Given the description of an element on the screen output the (x, y) to click on. 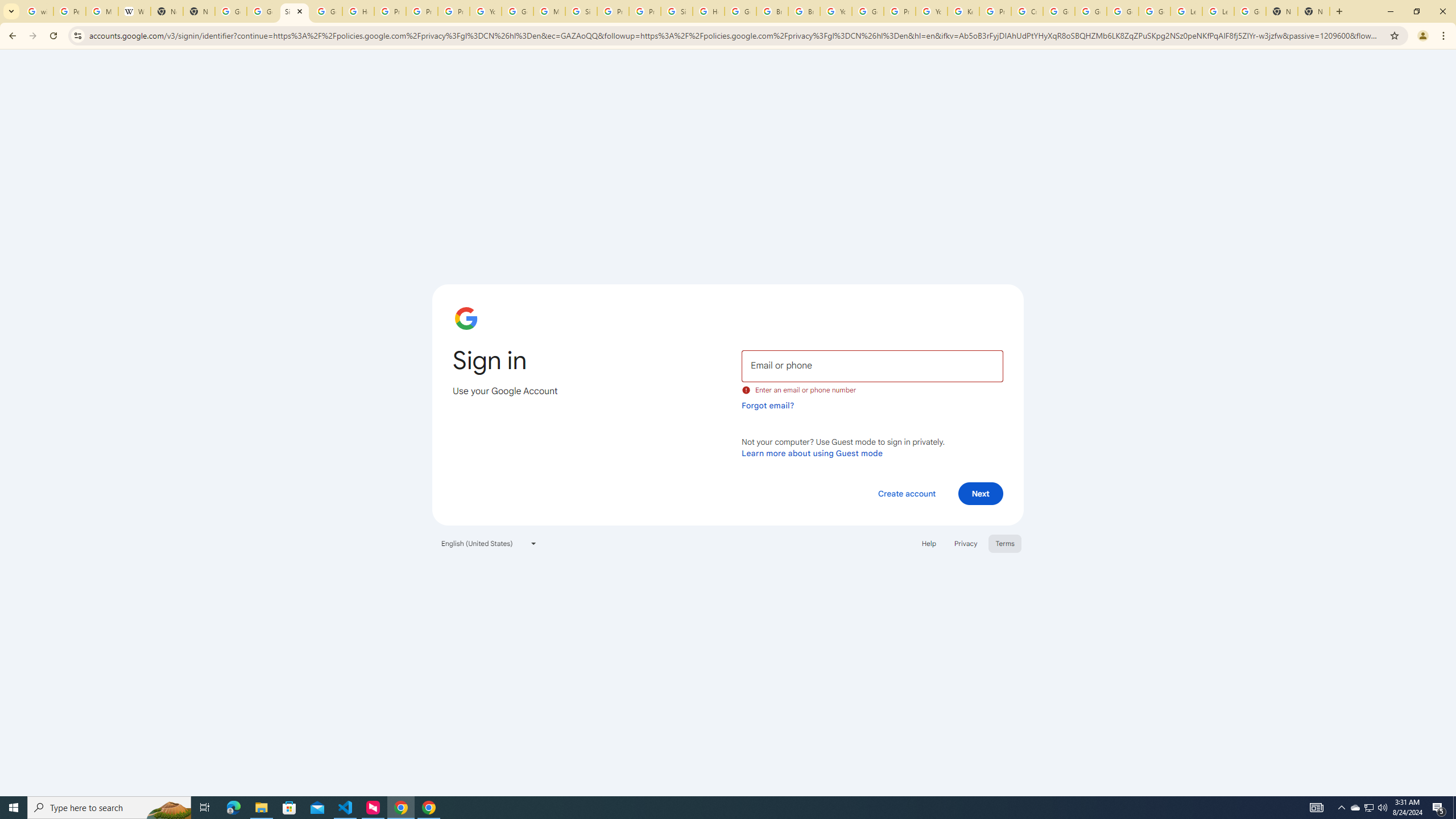
Google Account Help (517, 11)
Google Account Help (1123, 11)
Create your Google Account (1027, 11)
Next (980, 493)
Sign in - Google Accounts (294, 11)
Brand Resource Center (772, 11)
